Given the description of an element on the screen output the (x, y) to click on. 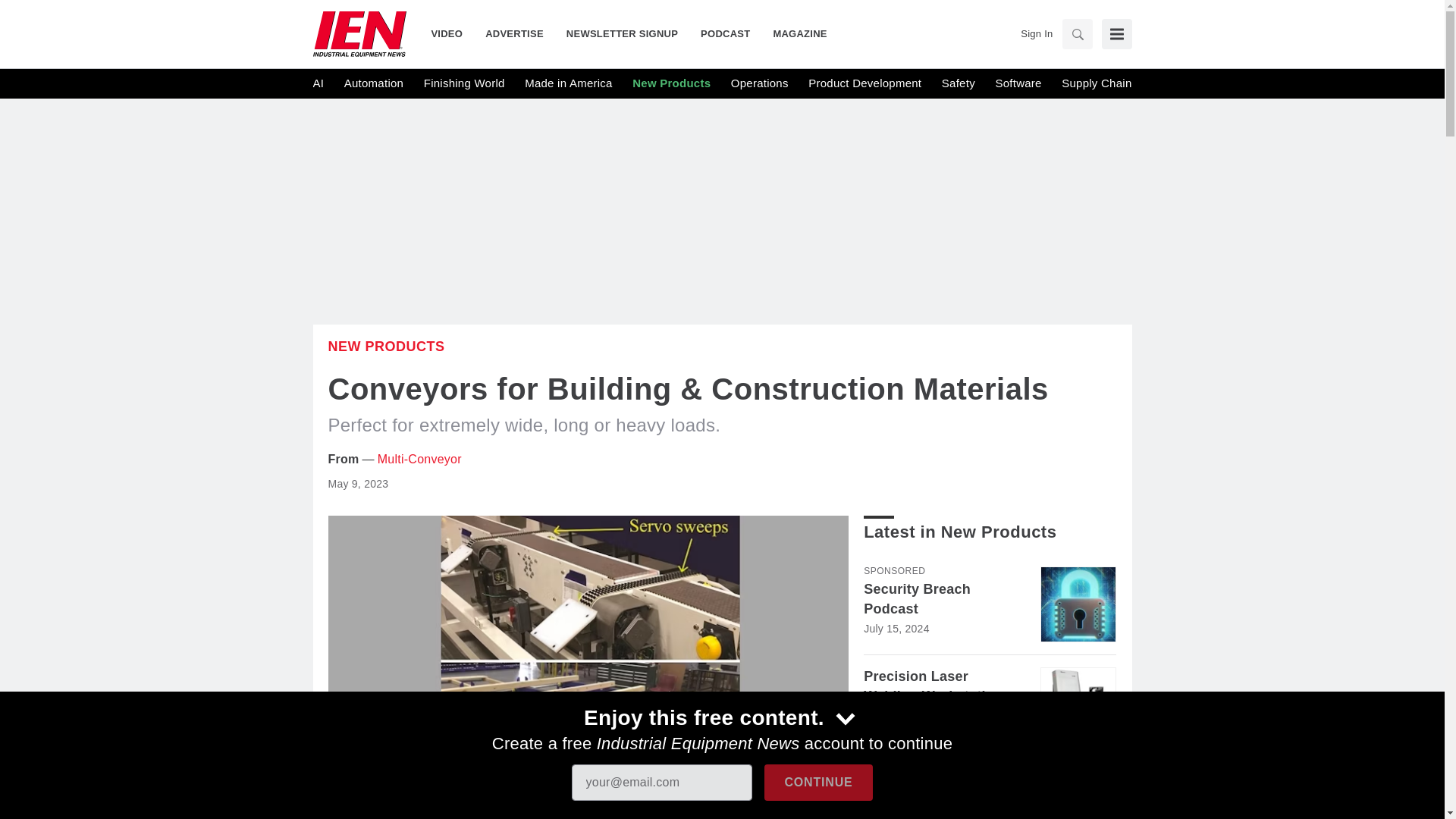
Made in America (567, 83)
Sponsored (893, 570)
ADVERTISE (514, 33)
PODCAST (724, 33)
MAGAZINE (794, 33)
Software (1017, 83)
VIDEO (452, 33)
Supply Chain (1096, 83)
Product Development (864, 83)
Sign In (1036, 33)
NEWSLETTER SIGNUP (621, 33)
New Products (670, 83)
Safety (958, 83)
Finishing World (464, 83)
Automation (373, 83)
